Given the description of an element on the screen output the (x, y) to click on. 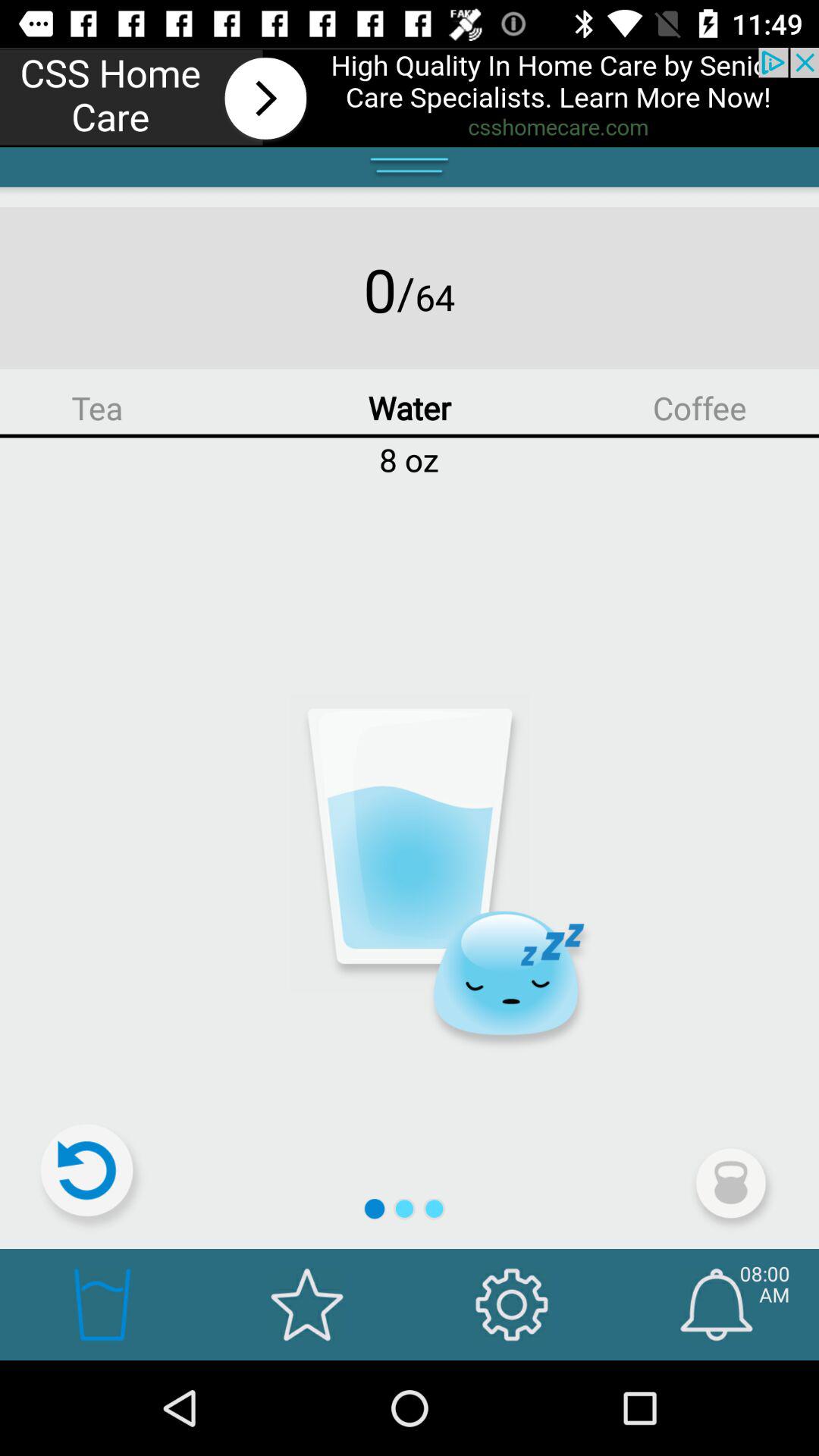
go back (93, 1177)
